Given the description of an element on the screen output the (x, y) to click on. 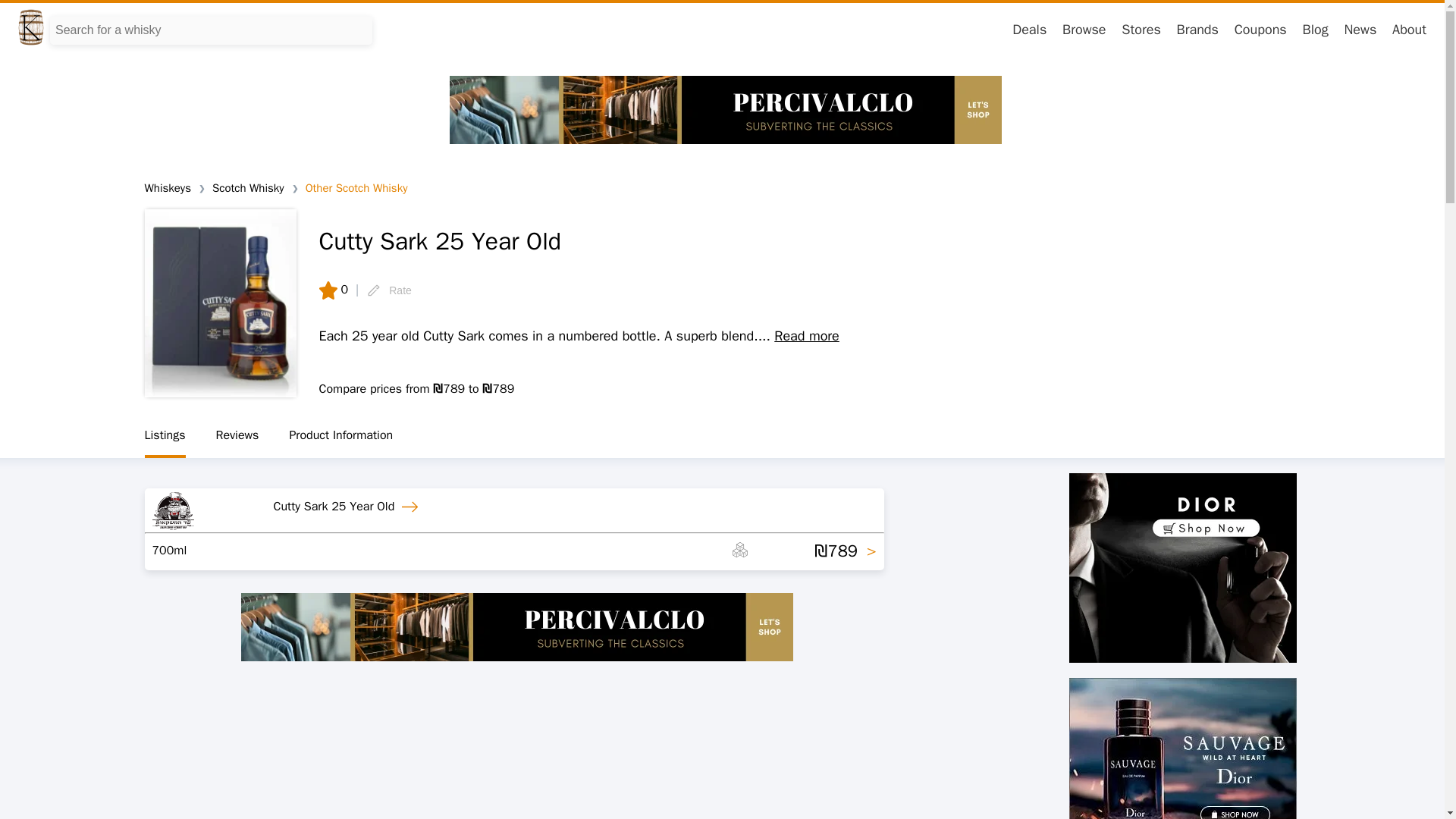
About (1408, 29)
Scotch Whisky (247, 187)
Whiskeys (167, 187)
Coupons (1260, 29)
Browse (1084, 29)
Cutty Sark 25 Year Old (349, 506)
Blog (1315, 29)
Stores (1140, 29)
Brands (1197, 29)
Deals (1028, 29)
